Given the description of an element on the screen output the (x, y) to click on. 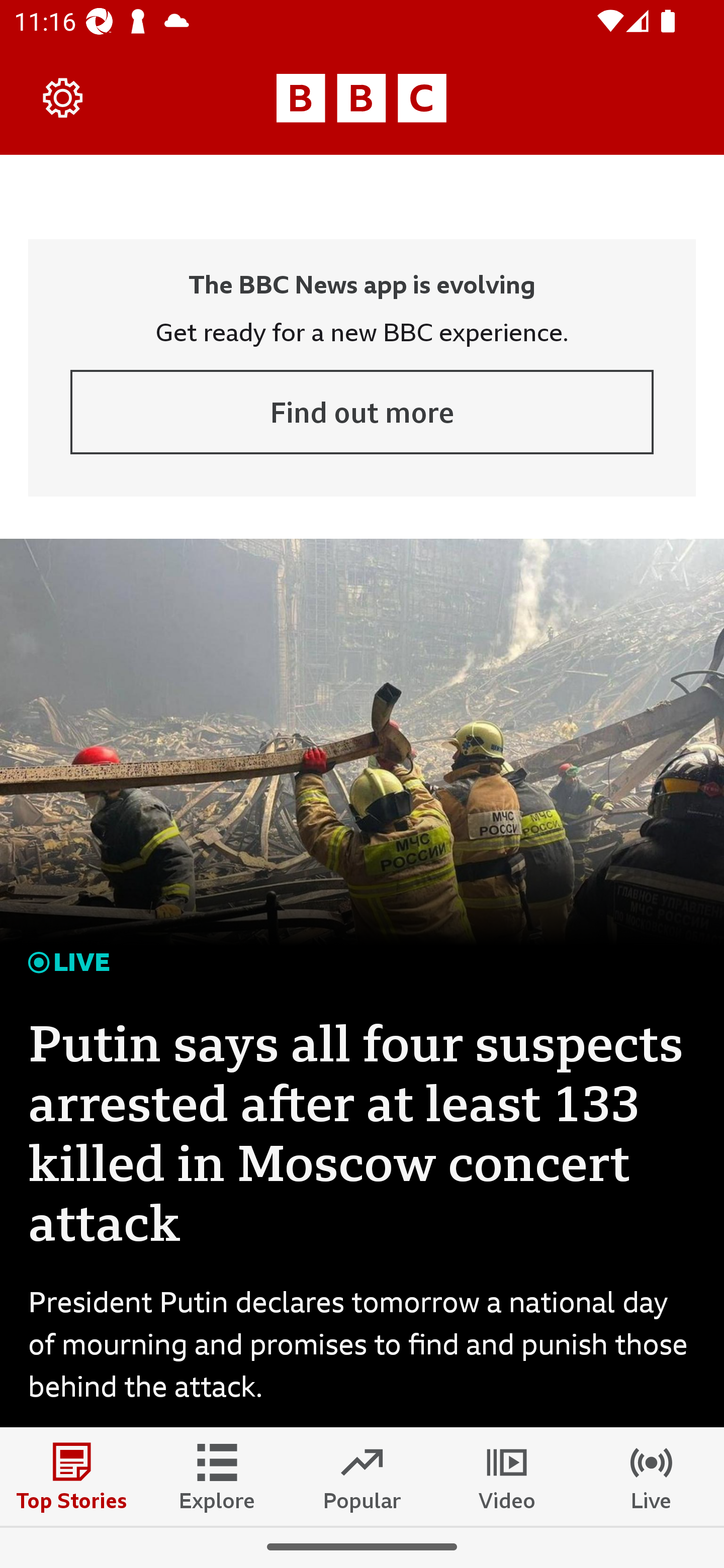
Settings (63, 97)
Find out more (361, 412)
Explore (216, 1475)
Popular (361, 1475)
Video (506, 1475)
Live (651, 1475)
